Given the description of an element on the screen output the (x, y) to click on. 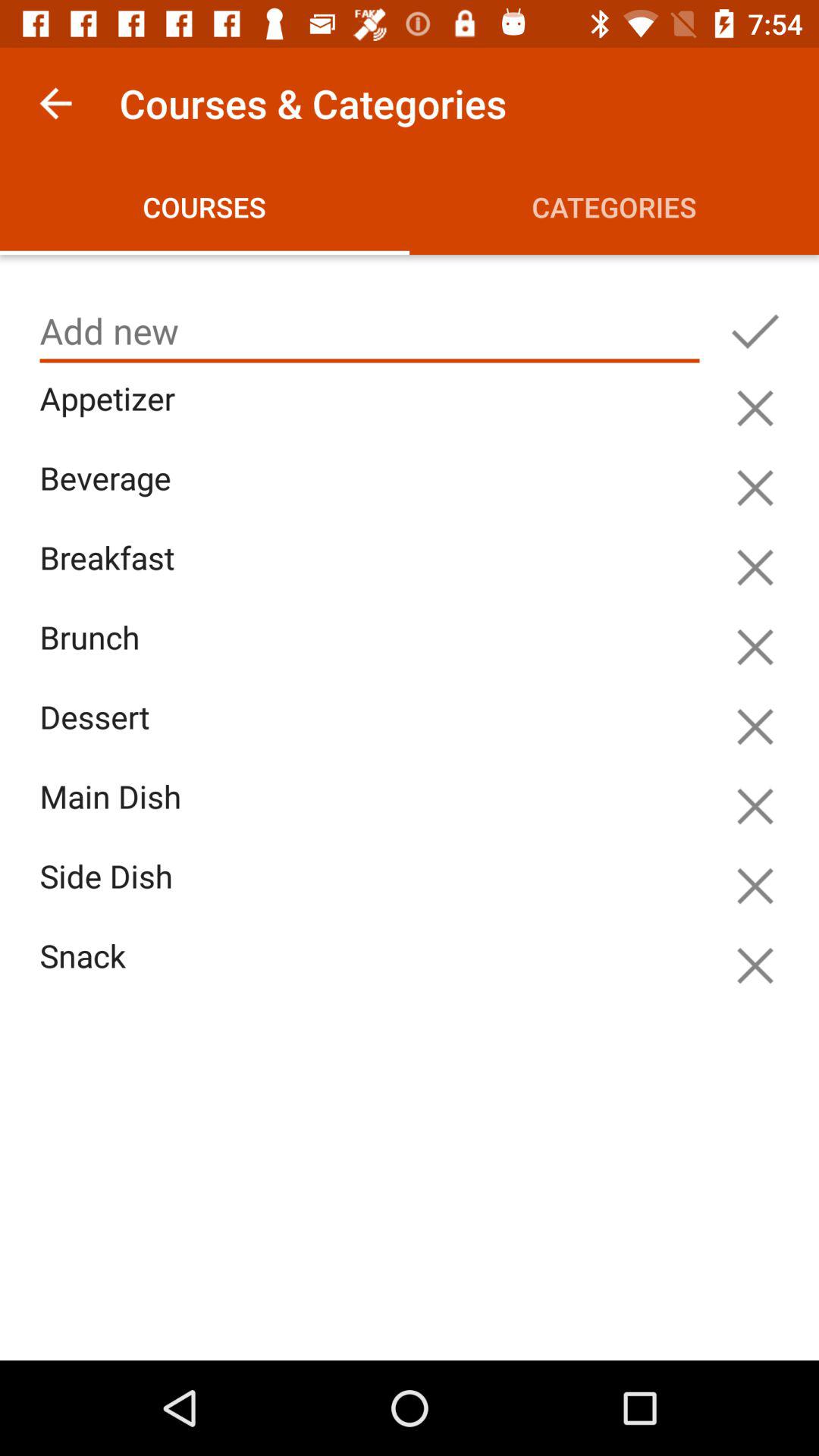
open item next to courses & categories item (55, 103)
